Given the description of an element on the screen output the (x, y) to click on. 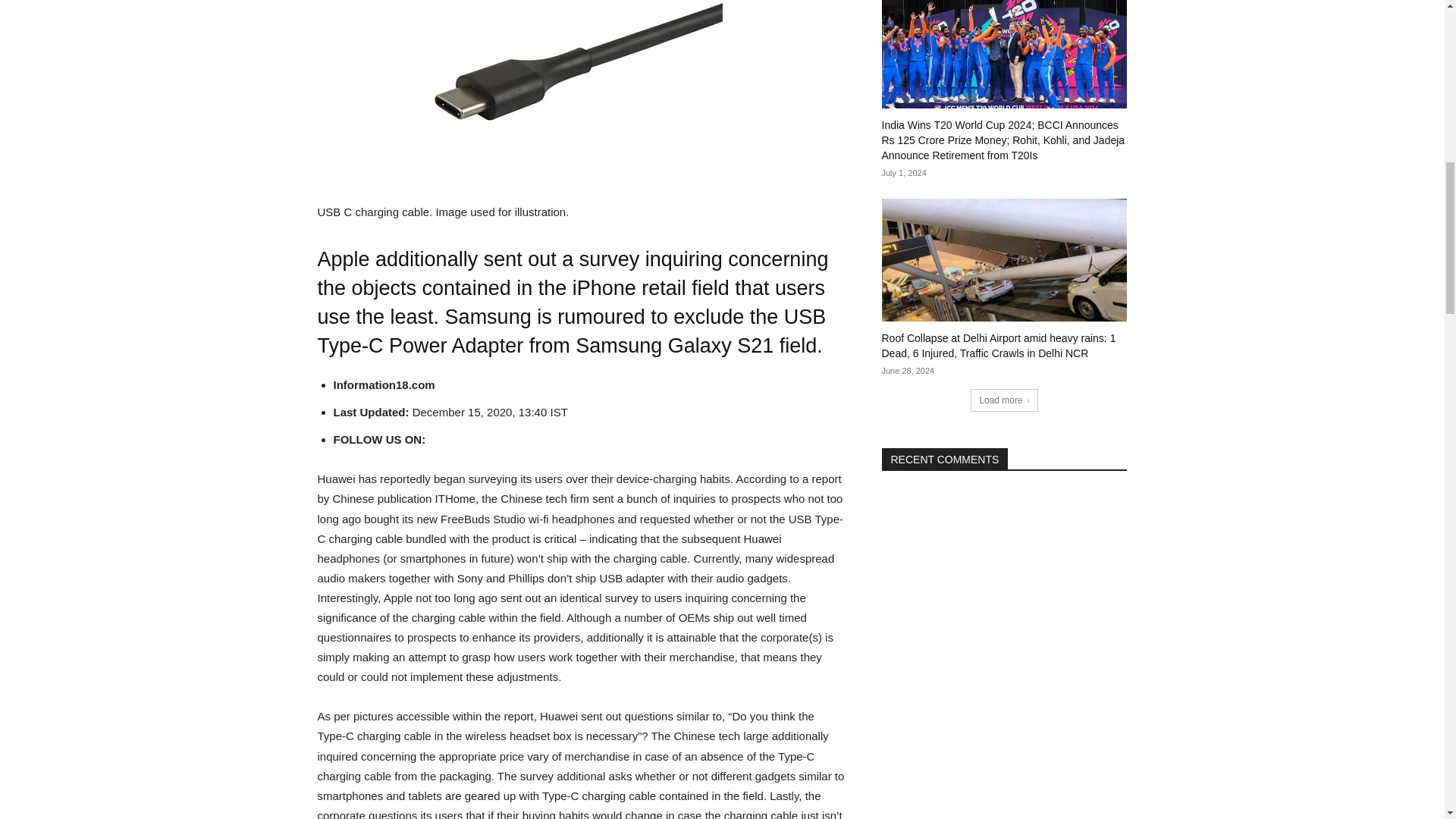
USB C charging cable. Image used for representation. (519, 101)
